Given the description of an element on the screen output the (x, y) to click on. 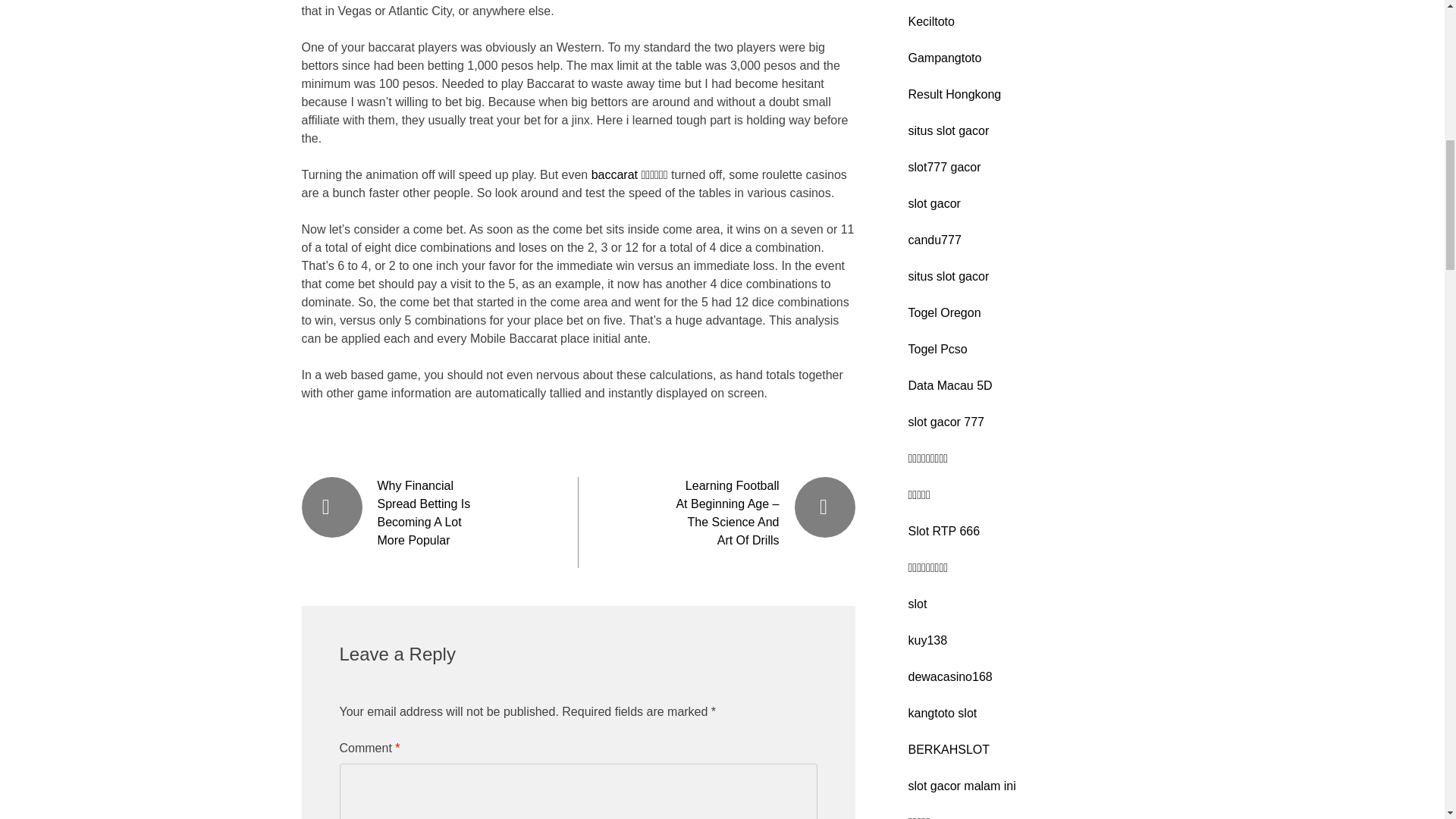
Result Hongkong (954, 93)
Keciltoto (931, 21)
Gampangtoto (944, 57)
situs slot gacor (949, 130)
Why Financial Spread Betting Is Becoming A Lot More Popular (423, 513)
